Given the description of an element on the screen output the (x, y) to click on. 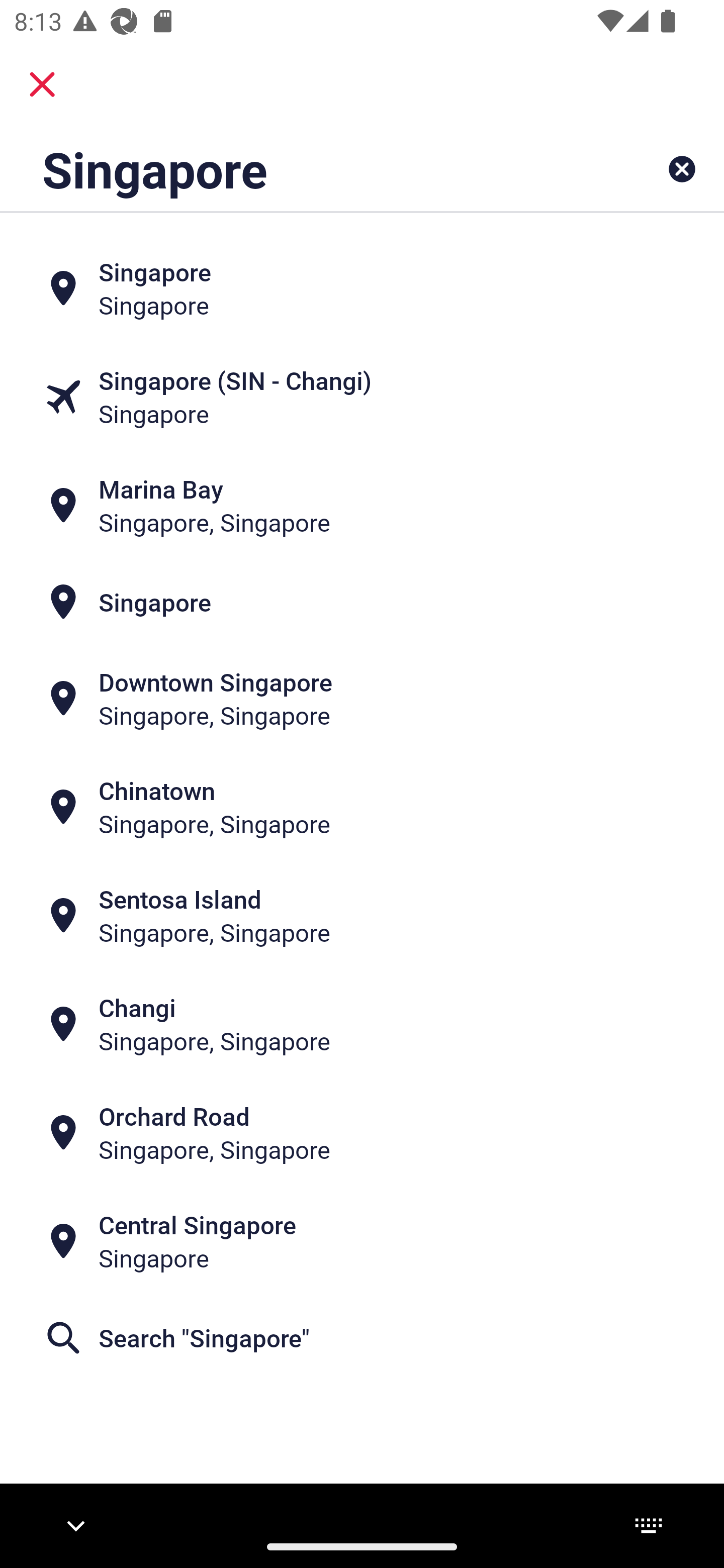
close. (42, 84)
Clear (681, 169)
Singapore (298, 169)
Singapore (362, 288)
Singapore (SIN - Changi) Singapore (362, 397)
Marina Bay Singapore, Singapore (362, 505)
Singapore (362, 601)
Downtown Singapore Singapore, Singapore (362, 698)
Chinatown Singapore, Singapore (362, 806)
Sentosa Island Singapore, Singapore (362, 915)
Changi Singapore, Singapore (362, 1024)
Orchard Road Singapore, Singapore (362, 1132)
Central Singapore Singapore (362, 1240)
Search "Singapore" (362, 1337)
